Given the description of an element on the screen output the (x, y) to click on. 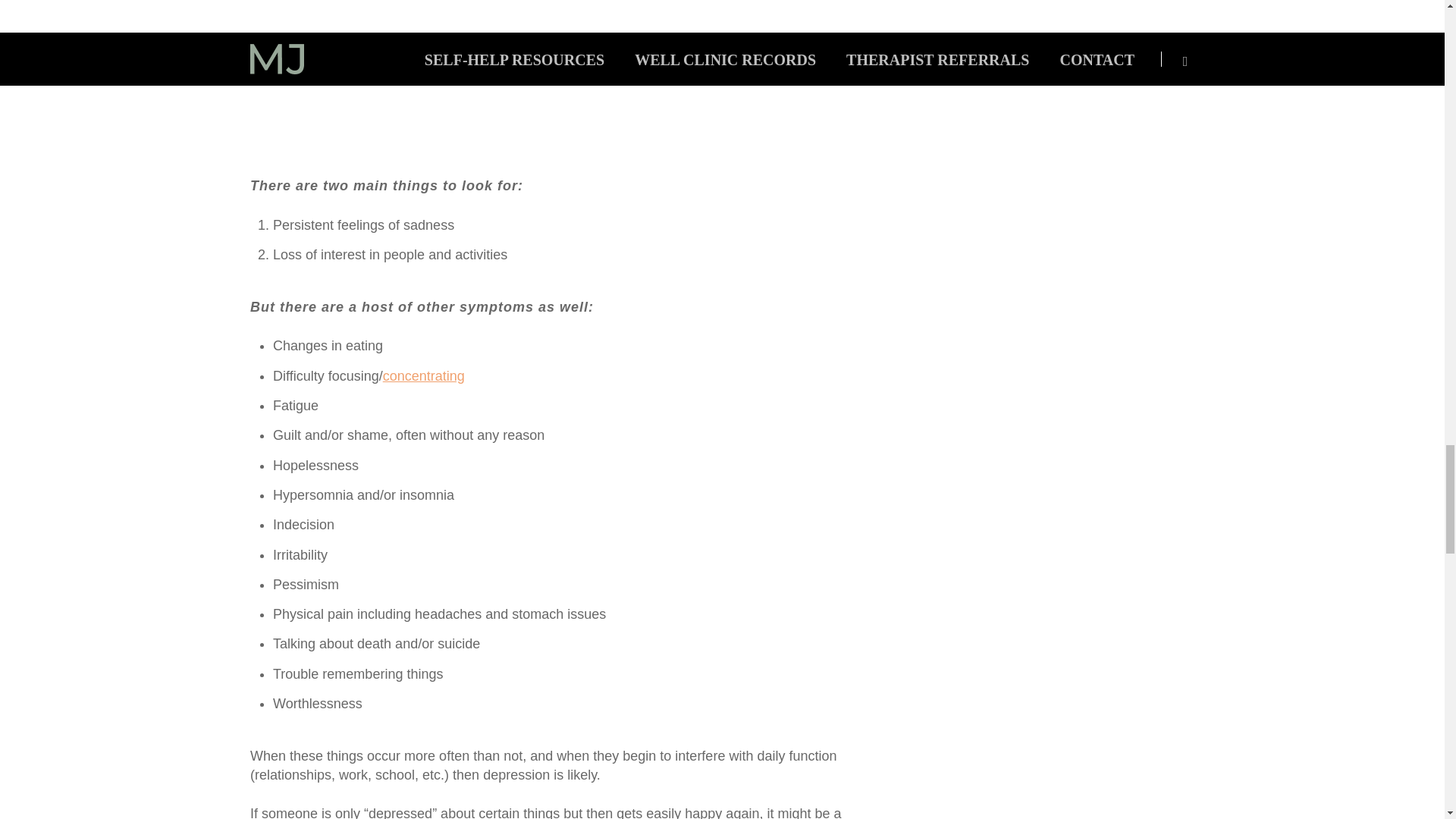
concentrating (423, 376)
